Given the description of an element on the screen output the (x, y) to click on. 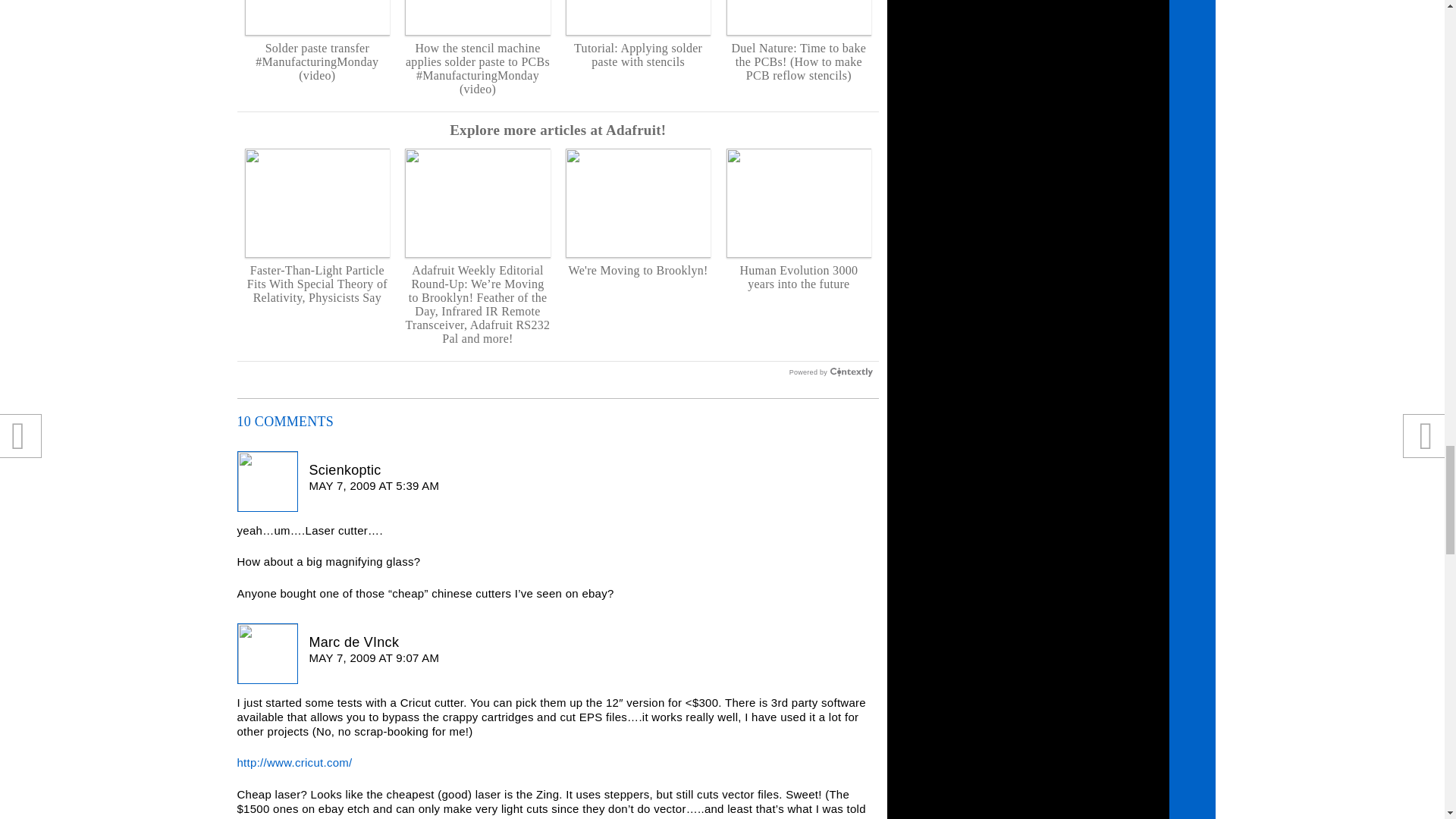
Tutorial: Applying solder paste with stencils (638, 34)
